Given the description of an element on the screen output the (x, y) to click on. 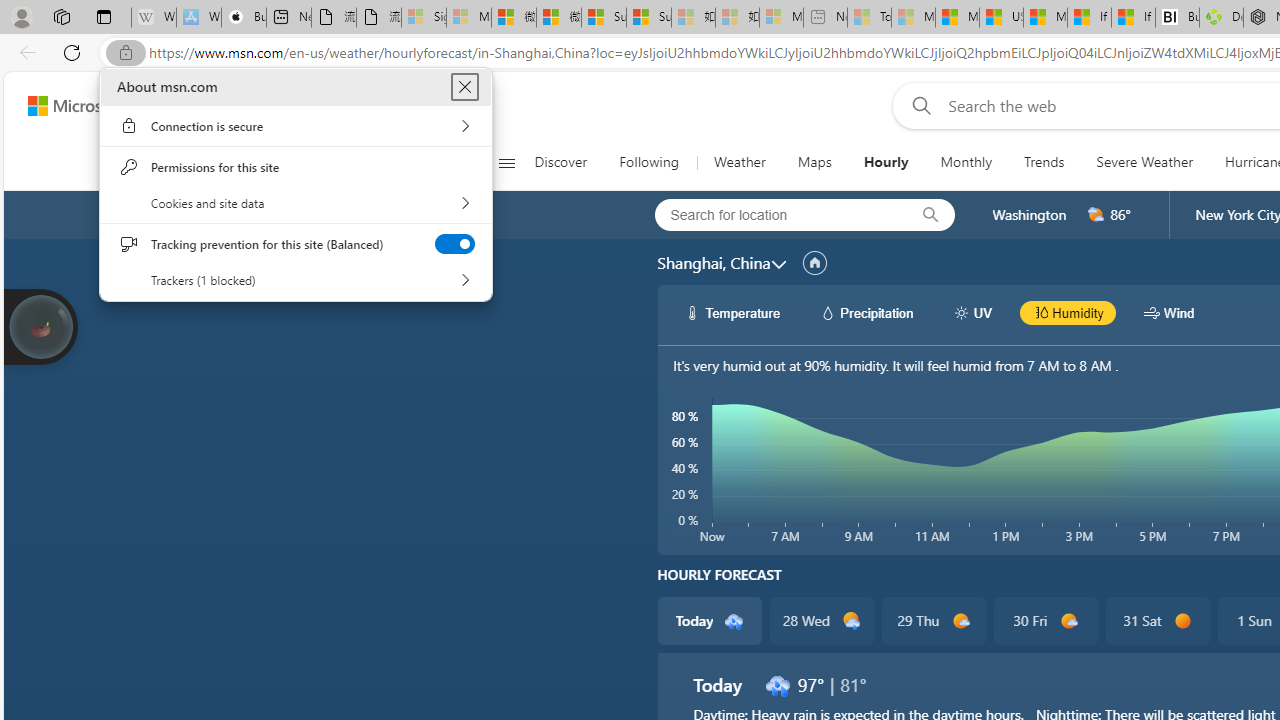
Severe Weather (1144, 162)
hourlyChart/uvWhite (961, 312)
d4300 (777, 684)
hourlyChart/windWhite Wind (1169, 312)
d1000 (1067, 621)
Connection is secure (296, 126)
Descarga Driver Updater (1220, 17)
locationName/setHomeLocation (814, 263)
Cookies and site data (296, 203)
Wikipedia - Sleeping (153, 17)
Top Stories - MSN - Sleeping (868, 17)
28 Wed d2100 (821, 620)
Trends (1044, 162)
hourlyChart/humidityBlack (1040, 312)
